Given the description of an element on the screen output the (x, y) to click on. 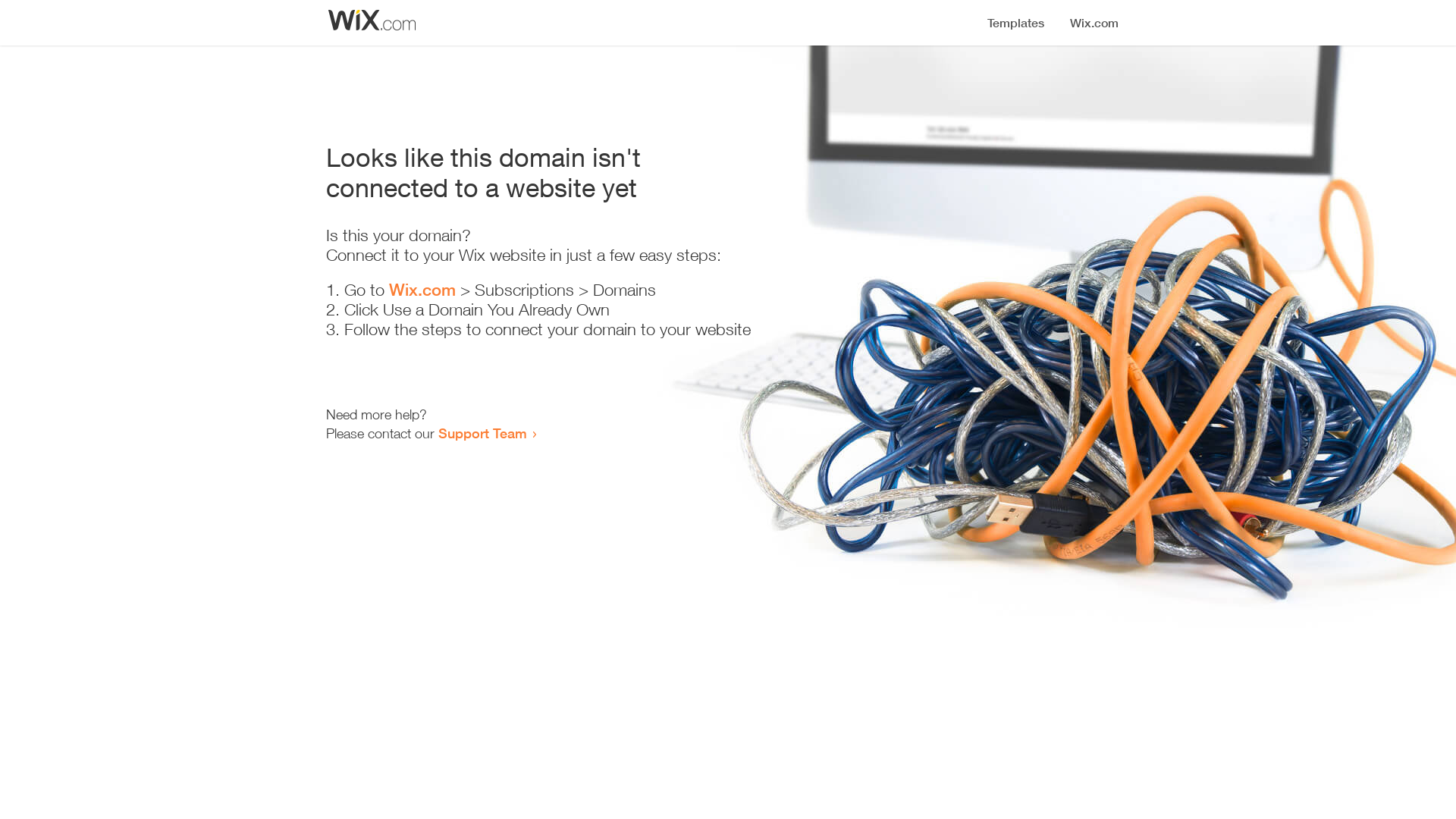
Wix.com Element type: text (422, 289)
Support Team Element type: text (482, 432)
